Given the description of an element on the screen output the (x, y) to click on. 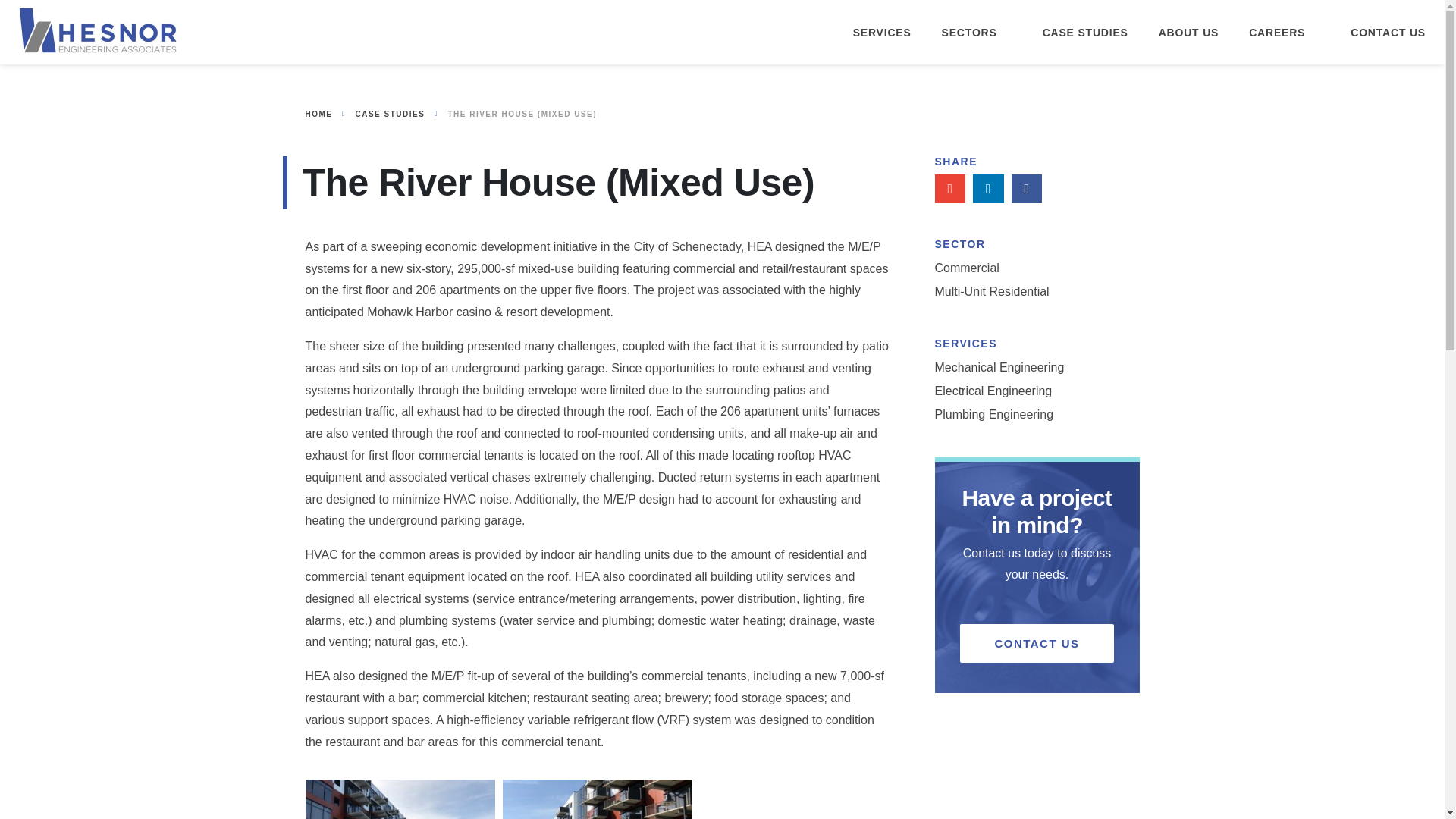
Home (317, 115)
Case Studies (390, 115)
Hesnor-Logo (97, 30)
CASE STUDIES (1085, 32)
CONTACT US (1388, 32)
SECTORS (976, 32)
SERVICES (882, 32)
CAREERS (1284, 32)
ABOUT US (1189, 32)
